Given the description of an element on the screen output the (x, y) to click on. 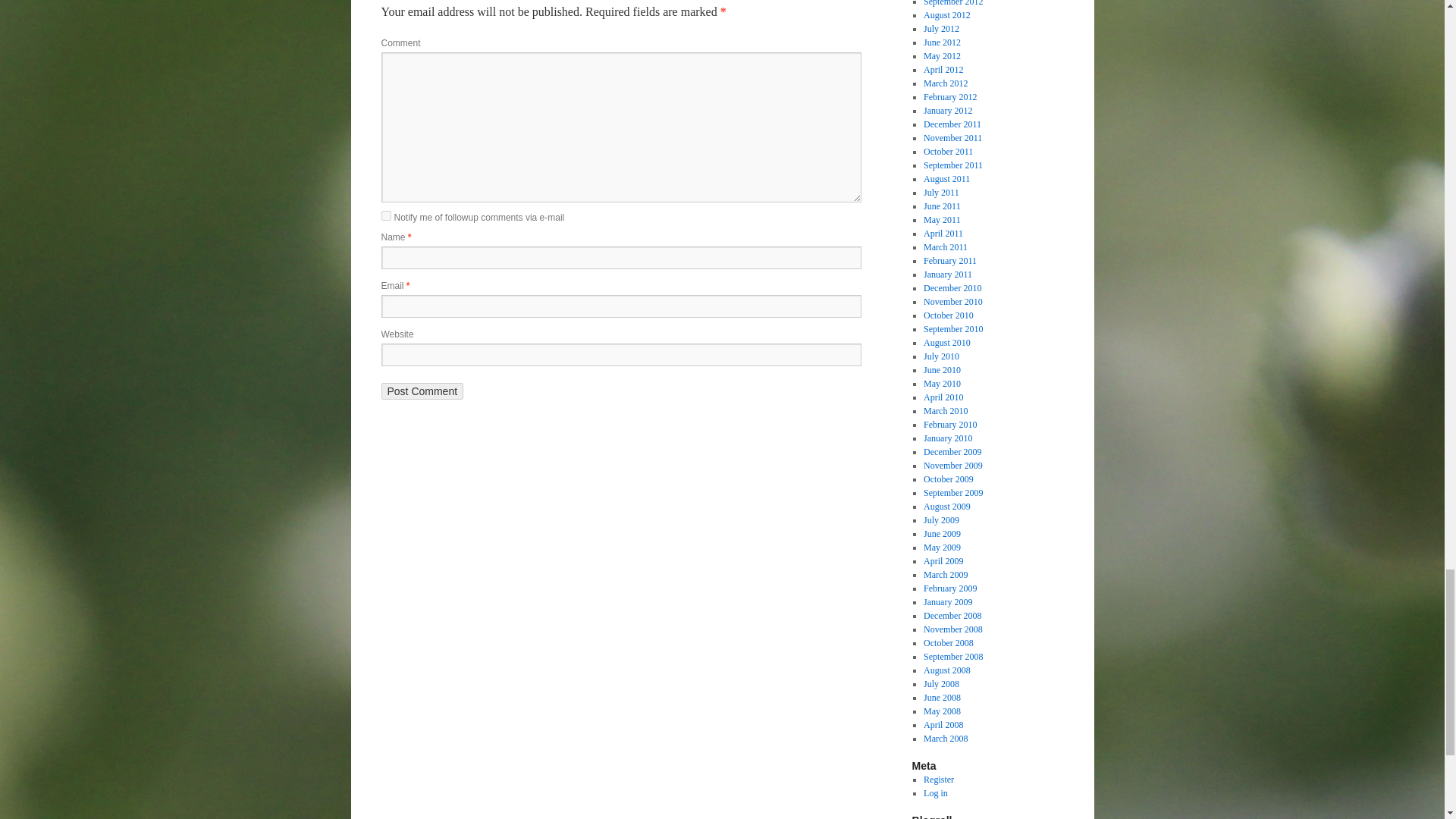
subscribe (385, 215)
Post Comment (421, 391)
Post Comment (421, 391)
